Given the description of an element on the screen output the (x, y) to click on. 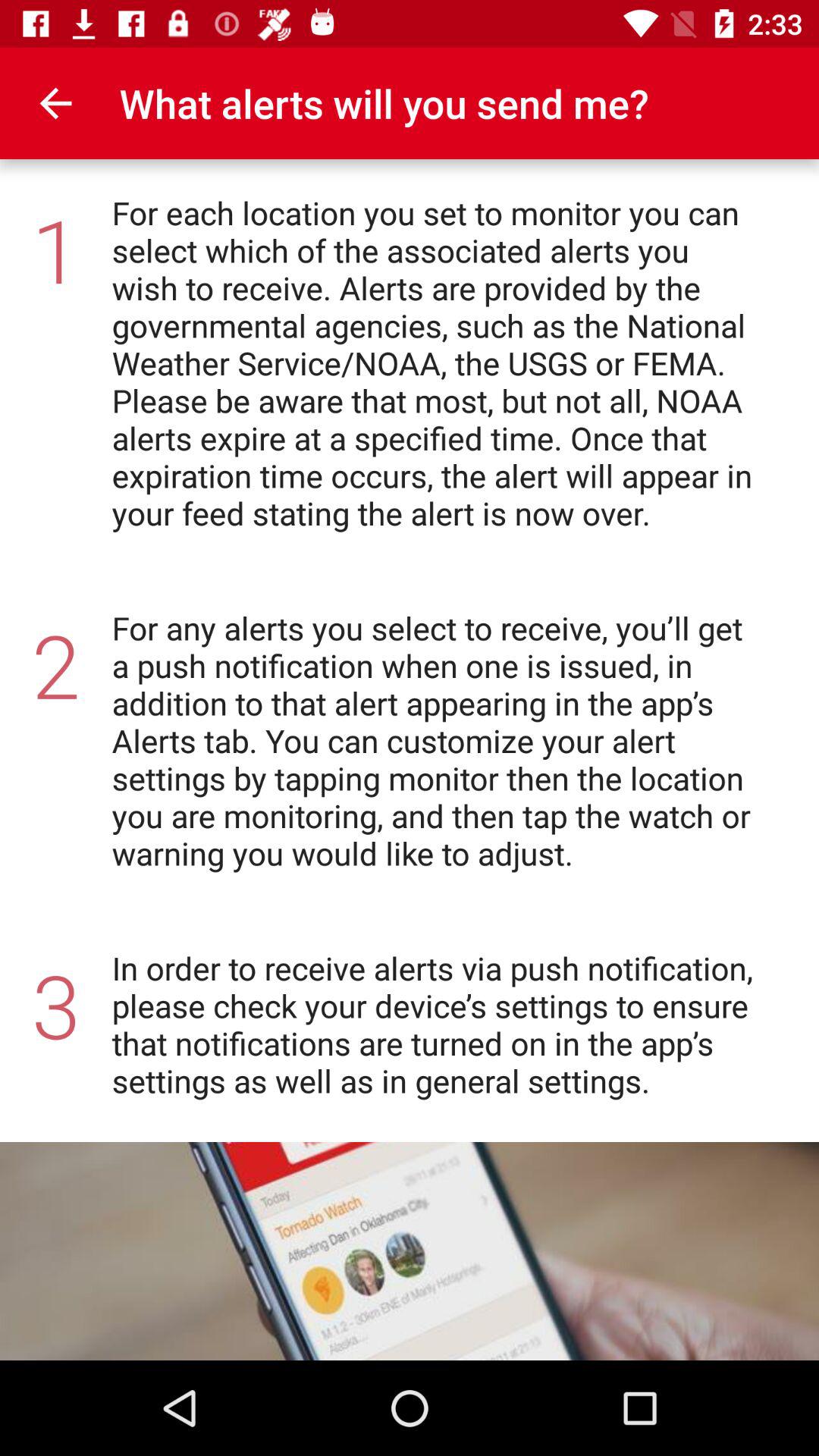
turn off icon to the left of what alerts will icon (55, 103)
